Given the description of an element on the screen output the (x, y) to click on. 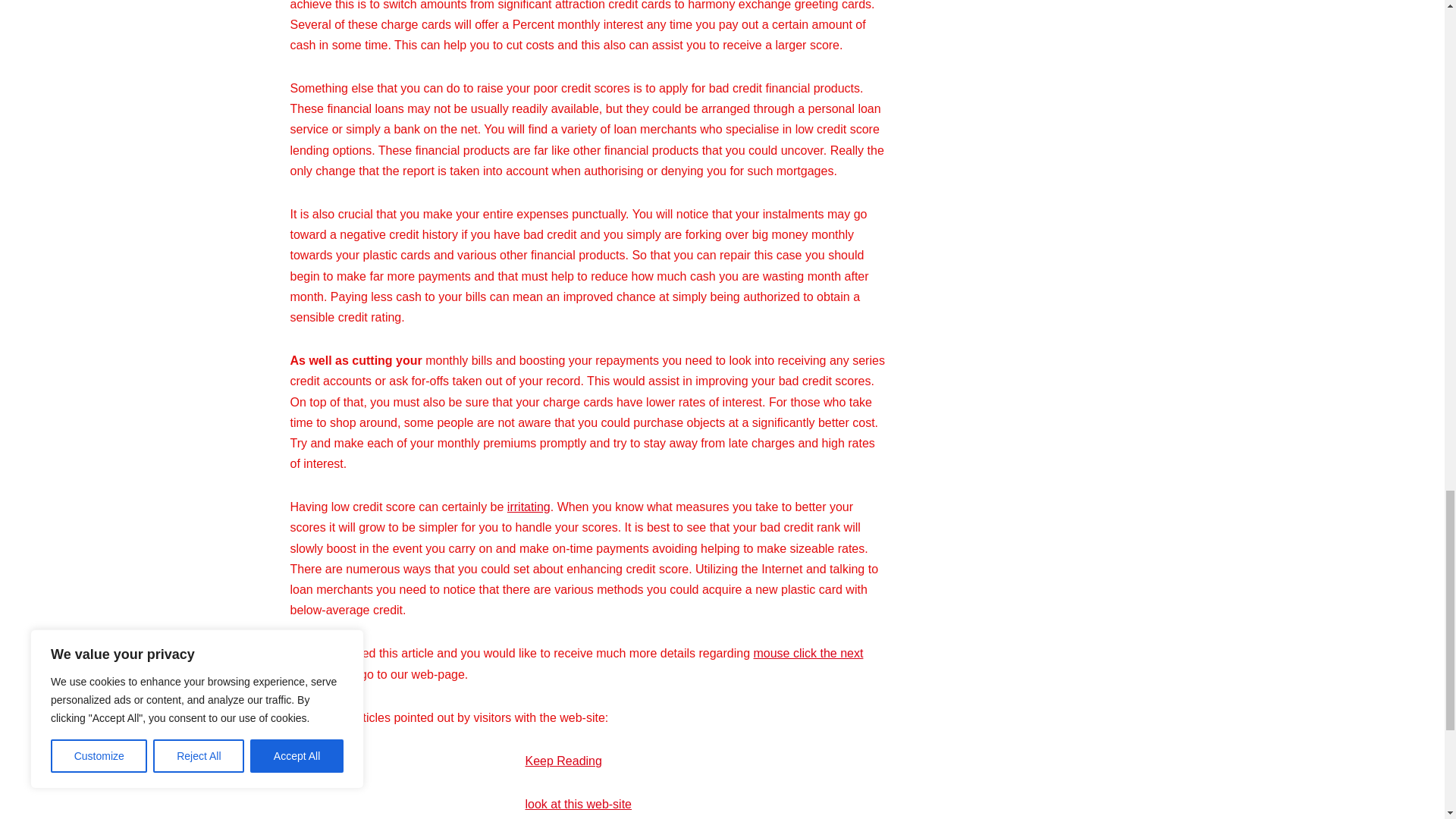
irritating (528, 506)
look at this web-site (577, 803)
mouse click the next article (576, 663)
Keep Reading (562, 760)
